Given the description of an element on the screen output the (x, y) to click on. 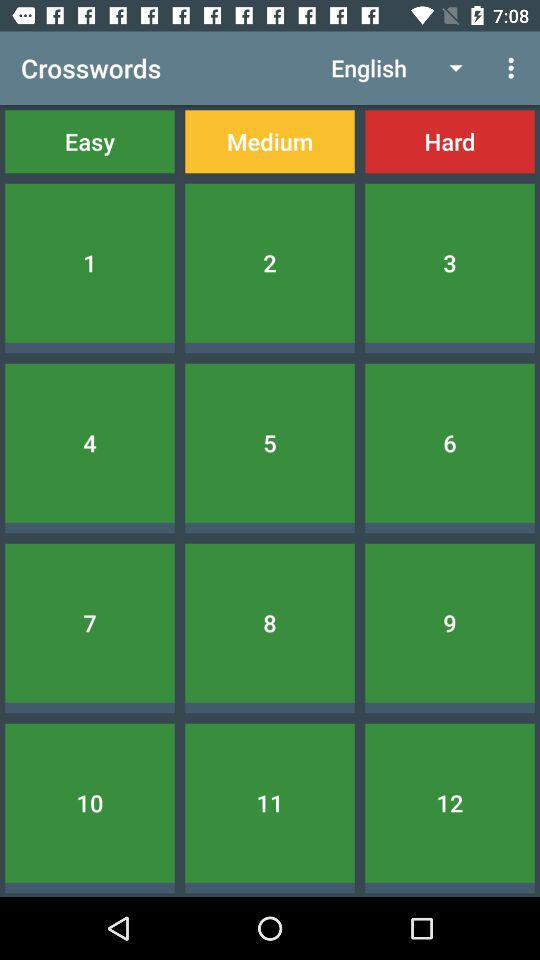
choose item next to medium item (449, 141)
